Given the description of an element on the screen output the (x, y) to click on. 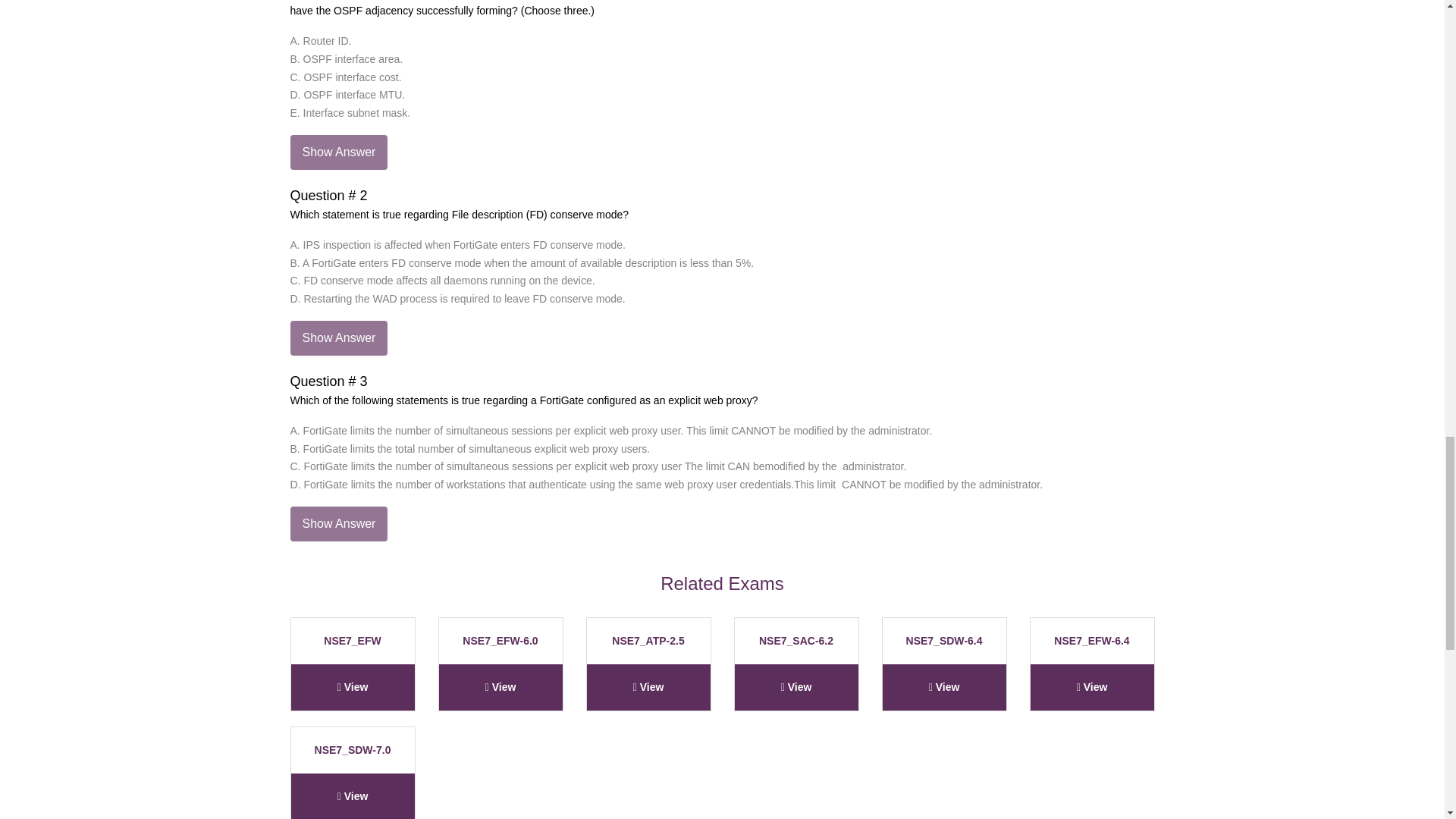
Show Answer (338, 152)
Show Answer (338, 523)
Show Answer (338, 338)
